Given the description of an element on the screen output the (x, y) to click on. 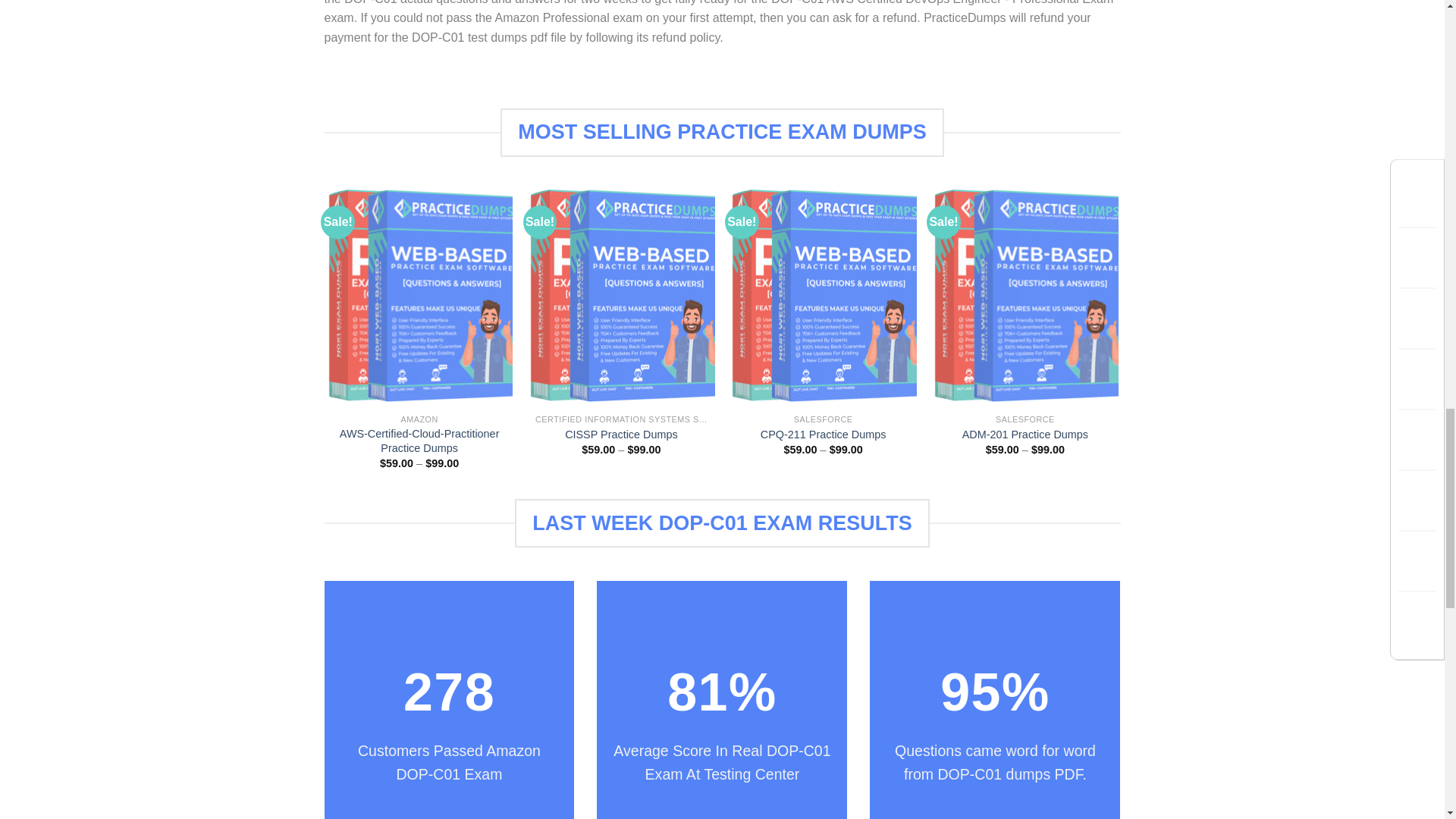
AWS-Certified-Cloud-Practitioner Practice Dumps (419, 440)
